Given the description of an element on the screen output the (x, y) to click on. 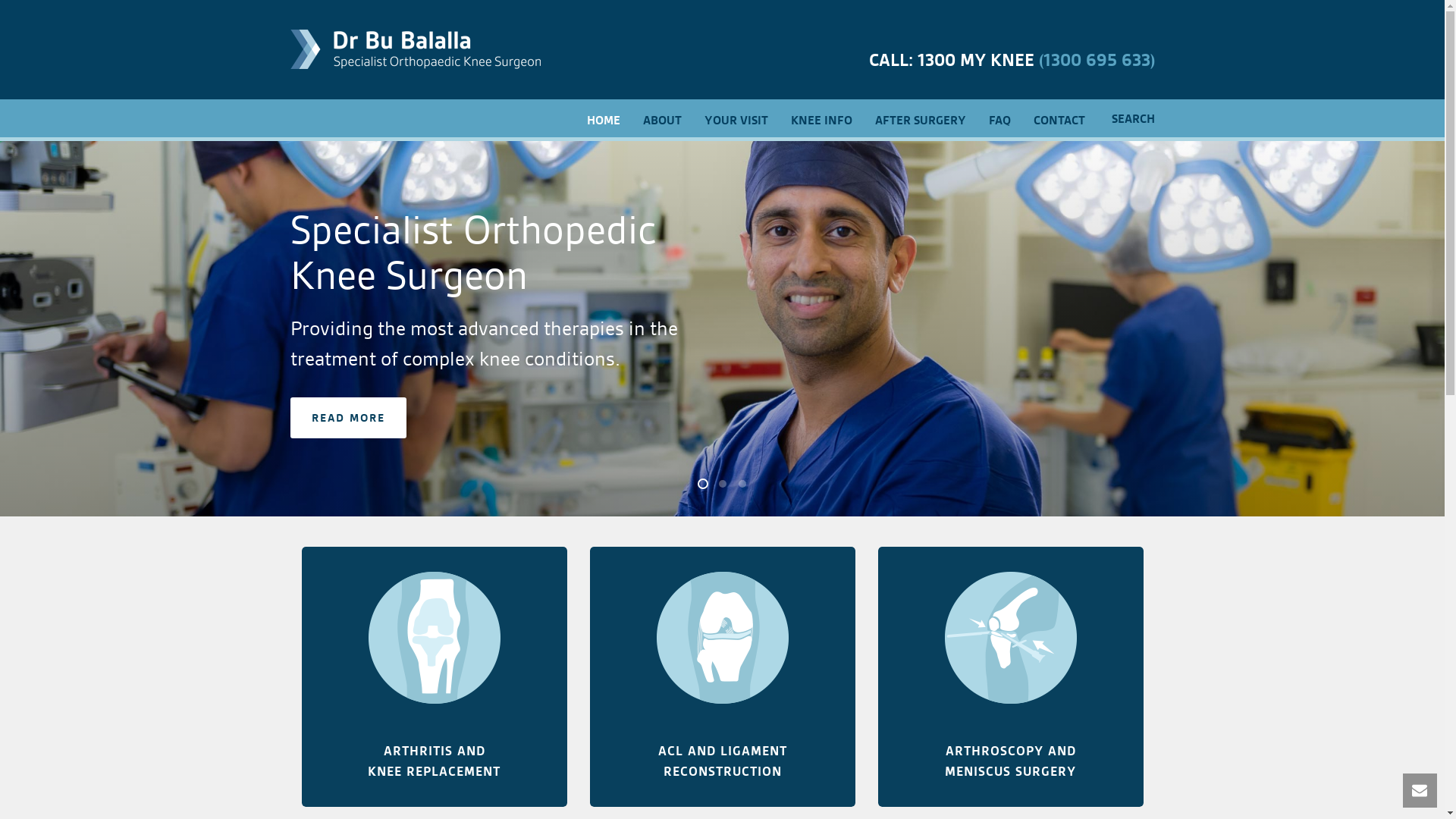
SEARCH Element type: text (1125, 119)
Specialist Orthopaedic Knee Surgeon Element type: hover (414, 49)
ACL Element type: hover (721, 637)
ARTHRITIS Element type: hover (433, 637)
ABOUT Element type: text (661, 119)
KNEE REPLACEMENT Element type: text (433, 770)
KNEE INFO Element type: text (821, 119)
ACL AND LIGAMENT
RECONSTRUCTION Element type: text (722, 760)
ARTHROSCOPY AND
MENISCUS SURGERY Element type: text (1010, 760)
ARTHROSCOPY Element type: hover (1009, 637)
YOUR VISIT Element type: text (736, 119)
ARTHRITIS AND Element type: text (434, 750)
CONTACT Element type: text (1059, 119)
FAQ Element type: text (998, 119)
(1300 695 633) Element type: text (1096, 60)
AFTER SURGERY Element type: text (919, 119)
READ MORE Element type: text (347, 417)
HOME Element type: text (602, 119)
